Given the description of an element on the screen output the (x, y) to click on. 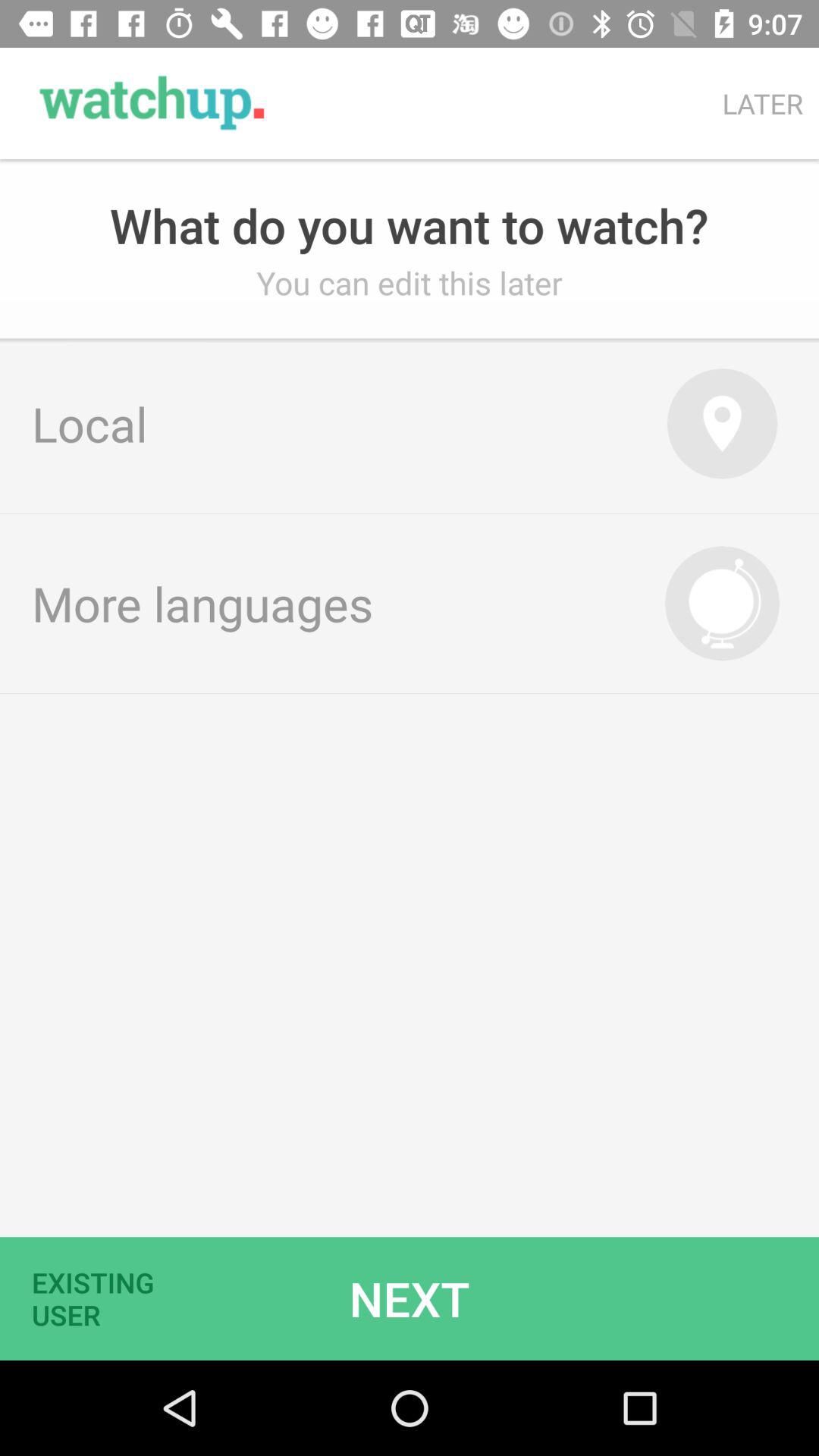
turn on icon below more languages item (409, 1298)
